Given the description of an element on the screen output the (x, y) to click on. 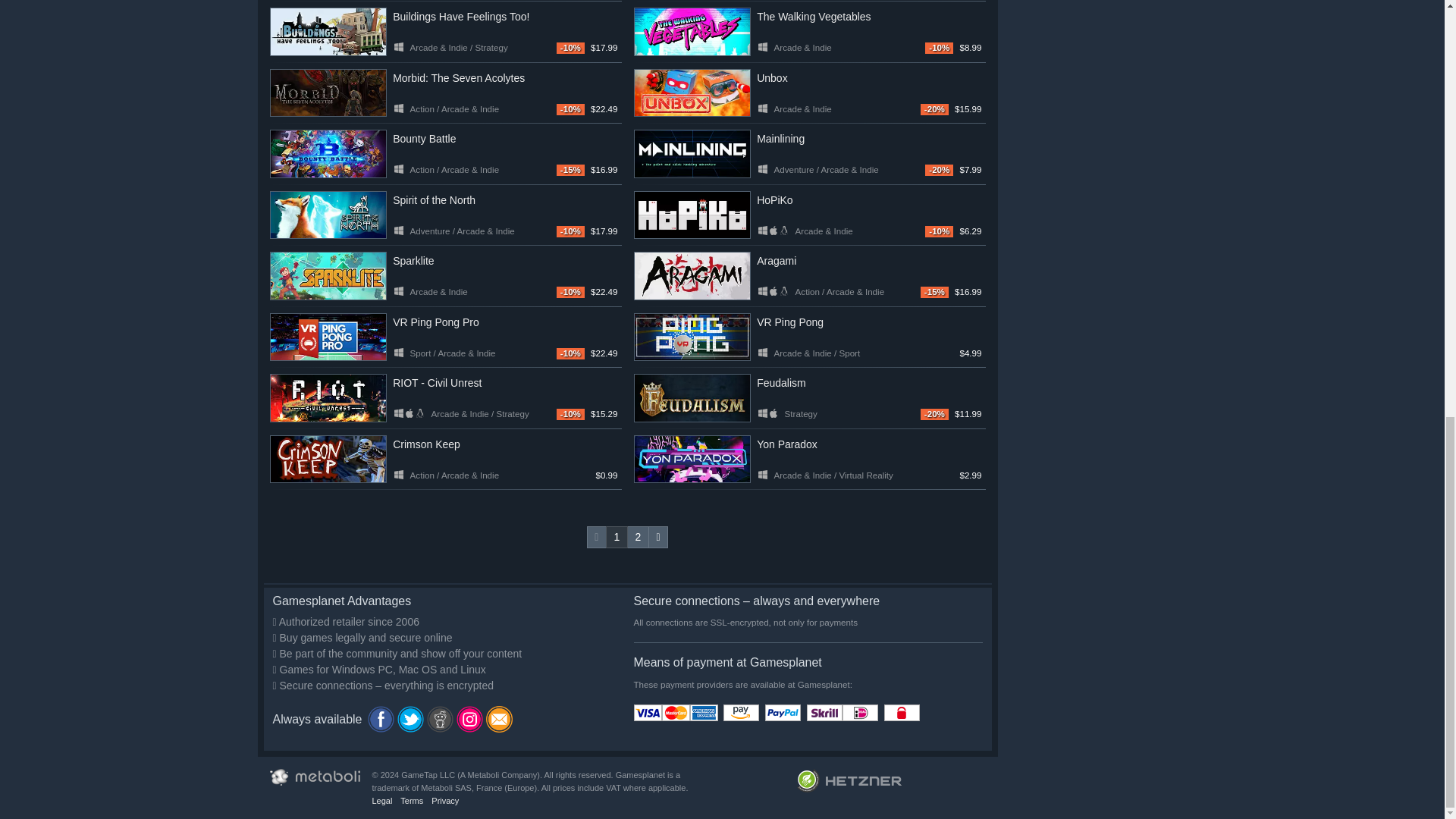
Spirit of the North (328, 214)
Buildings Have Feelings Too! (328, 31)
VR Ping Pong (692, 336)
Bounty Battle (328, 153)
Mainlining (692, 153)
Yon Paradox (692, 459)
Unbox (692, 92)
Morbid: The Seven Acolytes (328, 92)
The Walking Vegetables (692, 31)
Feudalism (692, 397)
HoPiKo (692, 214)
RIOT - Civil Unrest (328, 397)
Crimson Keep (328, 459)
VR Ping Pong Pro (328, 336)
Aragami (692, 275)
